Given the description of an element on the screen output the (x, y) to click on. 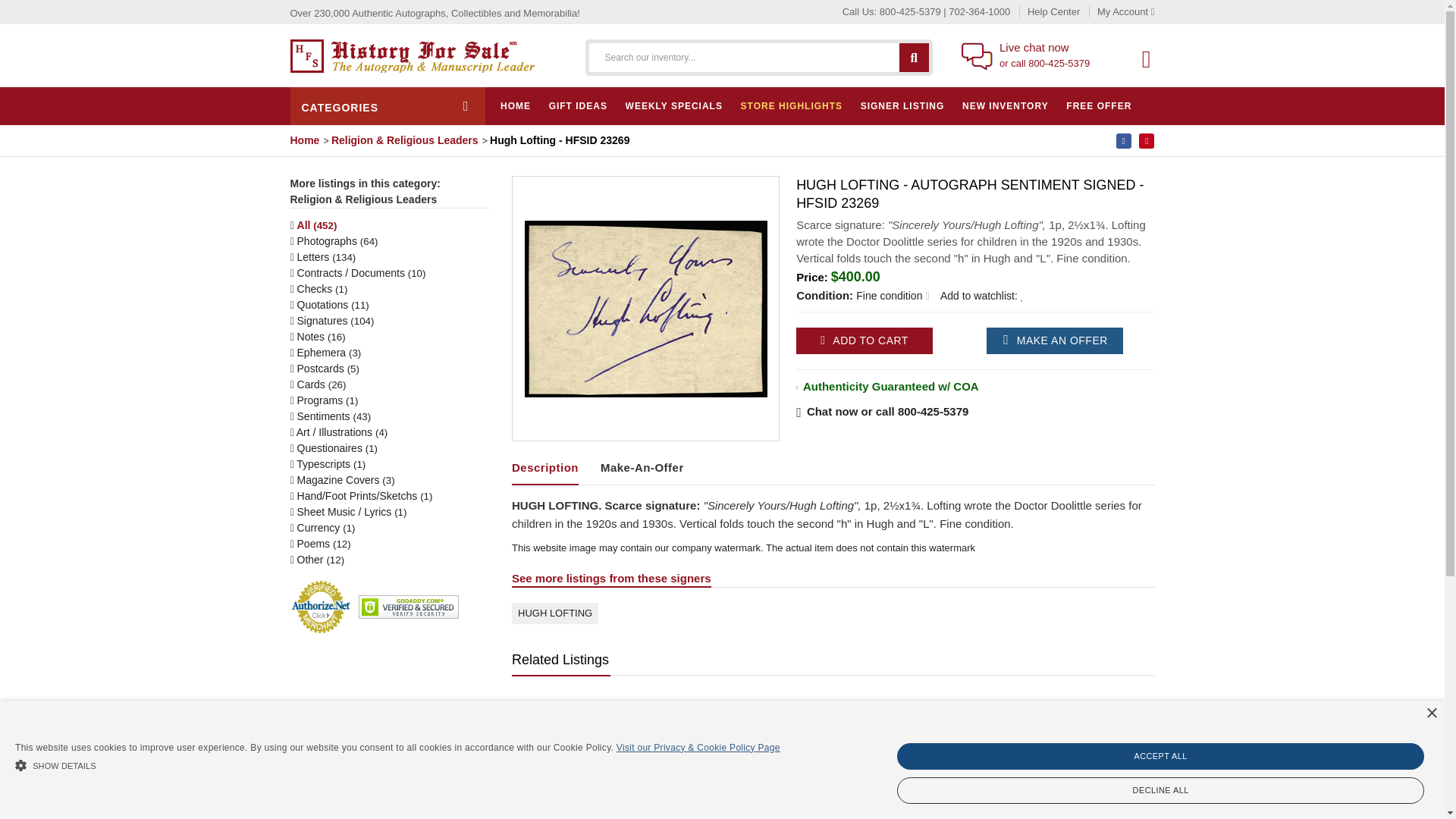
Category Menu (386, 105)
Search our inventory (913, 56)
Help and FAQ Center (1046, 11)
